Given the description of an element on the screen output the (x, y) to click on. 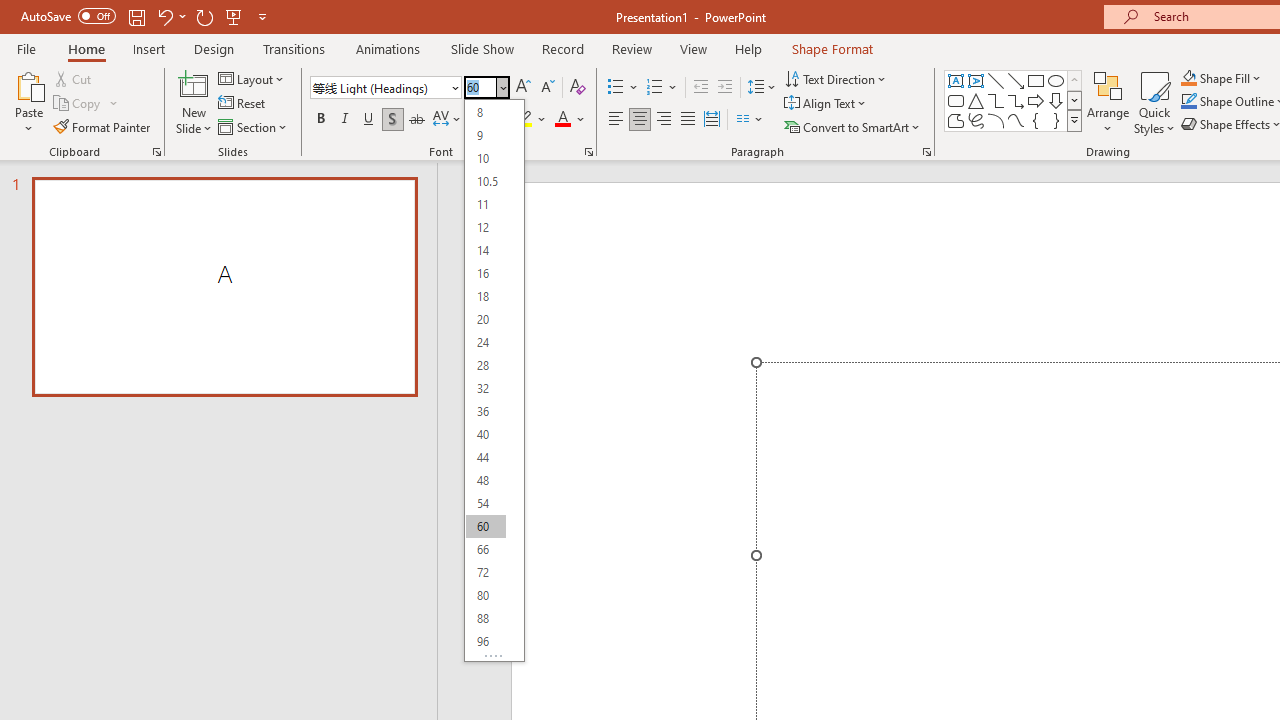
66 (485, 548)
36 (485, 411)
20 (485, 319)
